Given the description of an element on the screen output the (x, y) to click on. 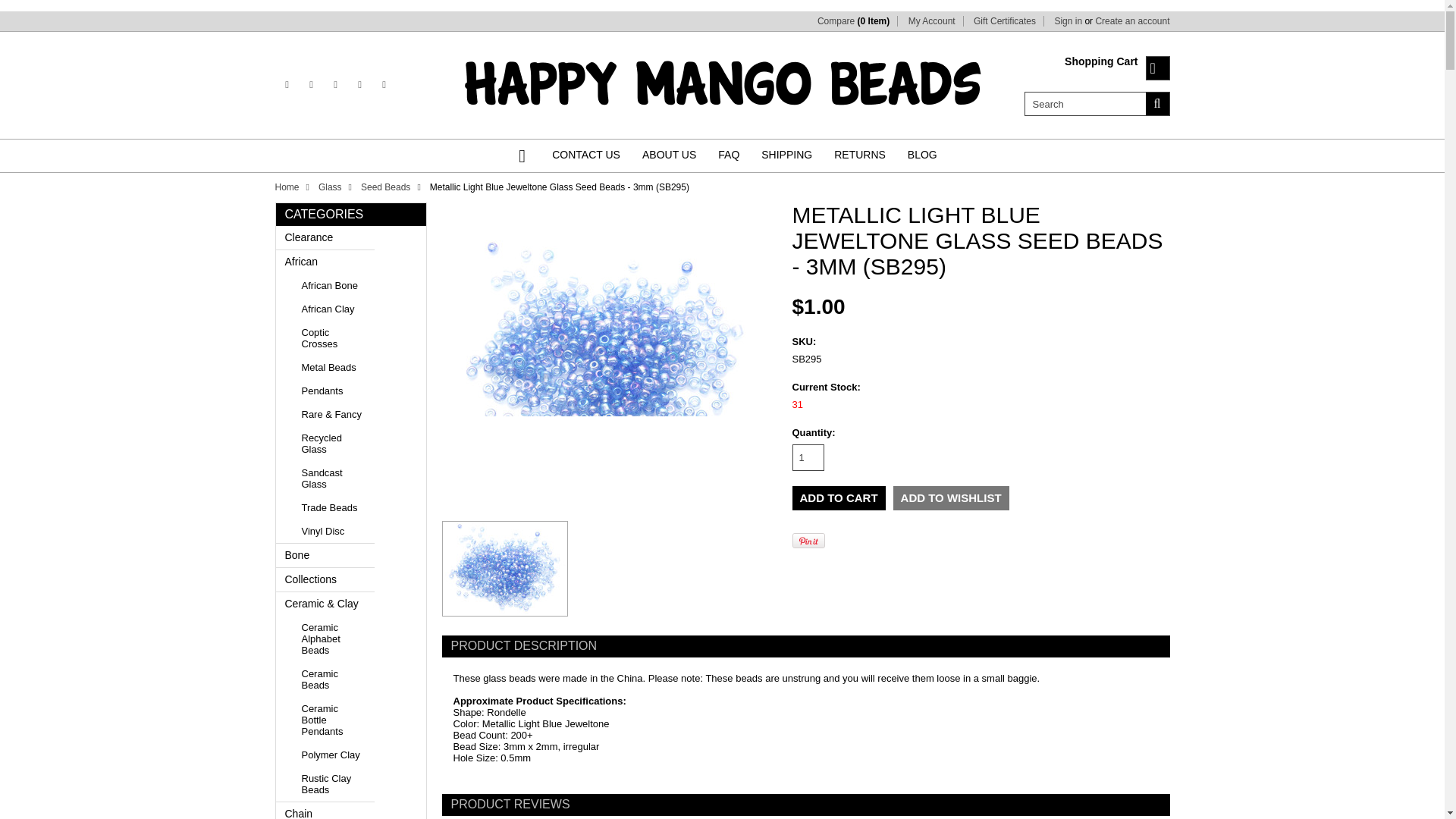
Create an account (1131, 20)
Home (527, 156)
Add To Cart (838, 498)
Sign in (1067, 20)
View Cart (1156, 68)
Search (1083, 103)
Add to Wishlist (951, 498)
1 (808, 457)
Search (1156, 103)
My Account (931, 20)
Gift Certificates (1004, 20)
